Given the description of an element on the screen output the (x, y) to click on. 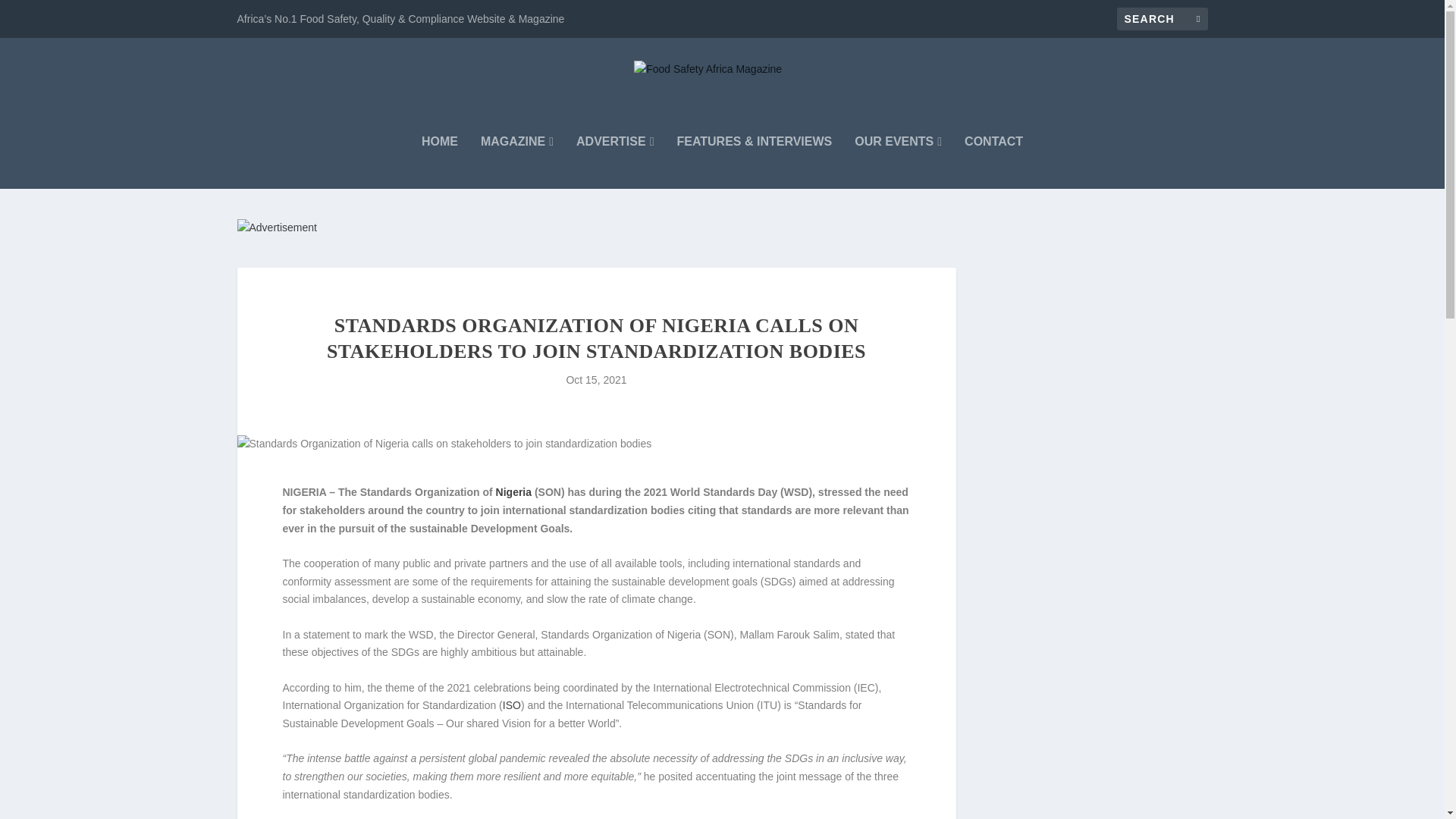
MAGAZINE (516, 162)
Nigeria (513, 491)
ISO (511, 705)
Search for: (1161, 18)
OUR EVENTS (898, 162)
ADVERTISE (614, 162)
CONTACT (993, 162)
